Given the description of an element on the screen output the (x, y) to click on. 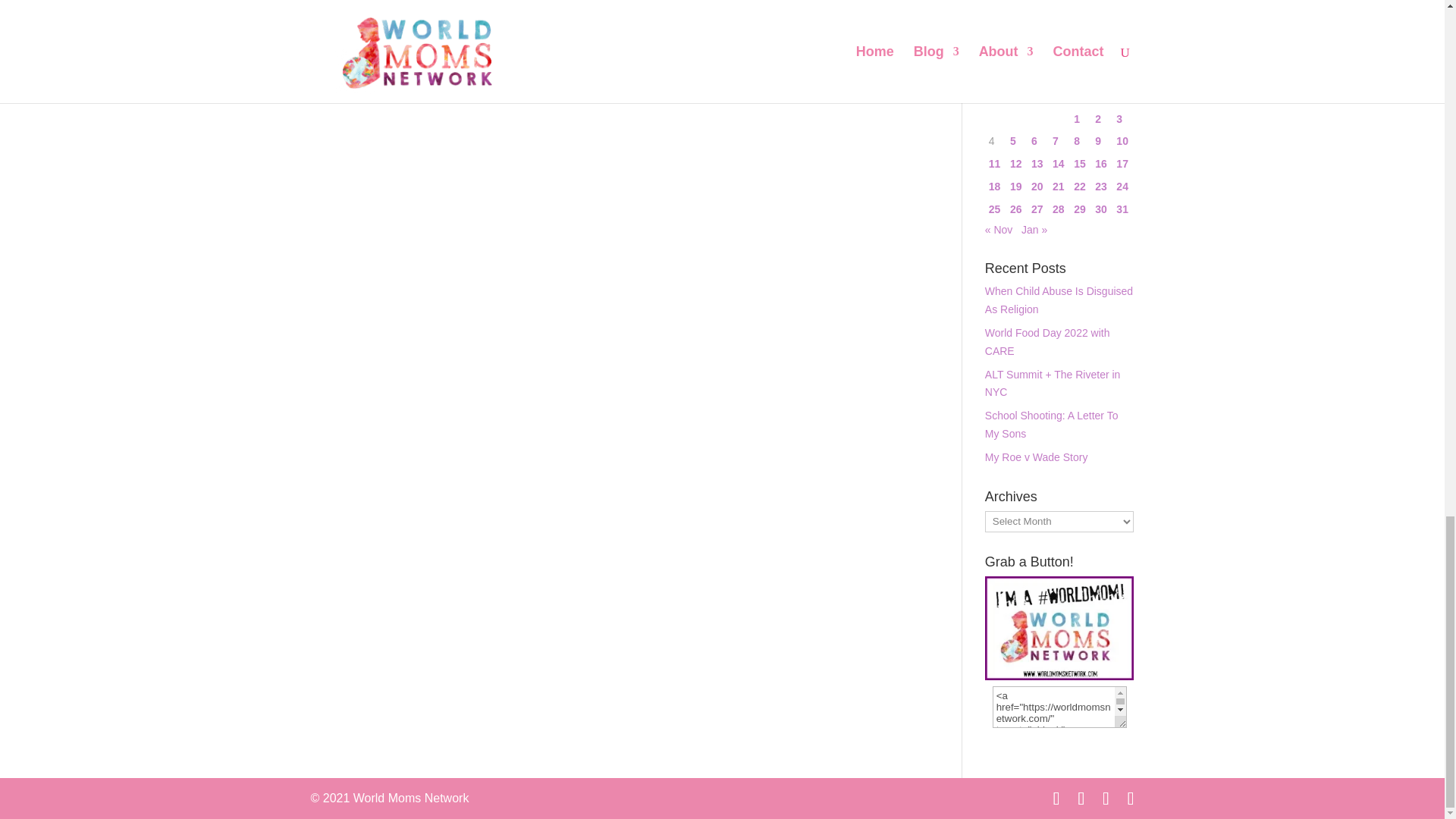
Tuesday (1037, 96)
Thursday (1080, 96)
Friday (1101, 96)
Monday (1016, 96)
Saturday (1123, 96)
Sunday (995, 96)
Wednesday (1059, 96)
